Given the description of an element on the screen output the (x, y) to click on. 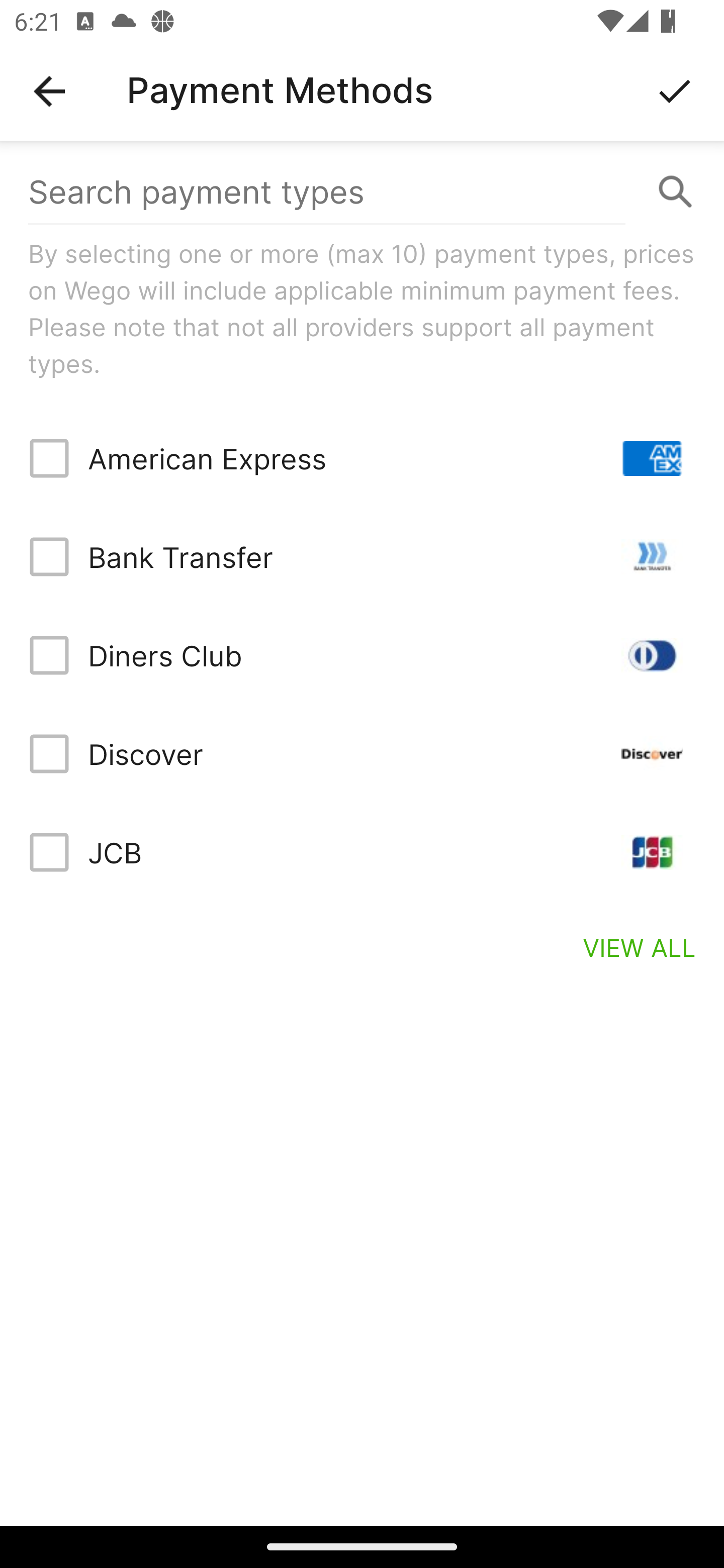
Search payment types  (361, 191)
American Express (362, 458)
Bank Transfer (362, 557)
Diners Club (362, 655)
Discover (362, 753)
JCB (362, 851)
VIEW ALL (639, 946)
